Given the description of an element on the screen output the (x, y) to click on. 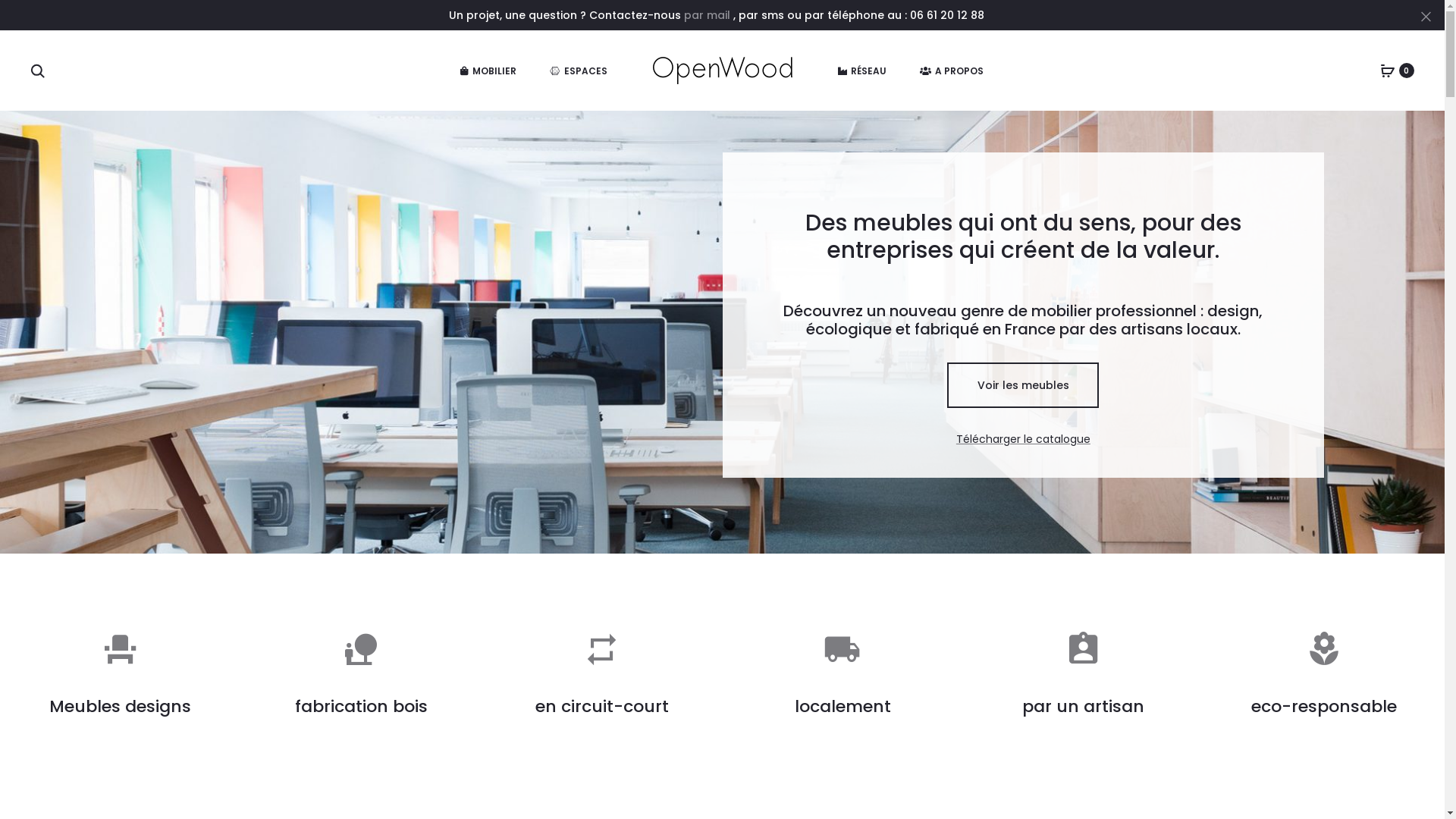
ESPACES Element type: text (577, 71)
MOBILIER Element type: text (487, 71)
Close Element type: text (1425, 15)
A PROPOS Element type: text (950, 71)
0 Element type: text (1387, 70)
Voir les meubles Element type: text (1022, 384)
par mail Element type: text (708, 14)
Rechercher Element type: text (37, 70)
